Given the description of an element on the screen output the (x, y) to click on. 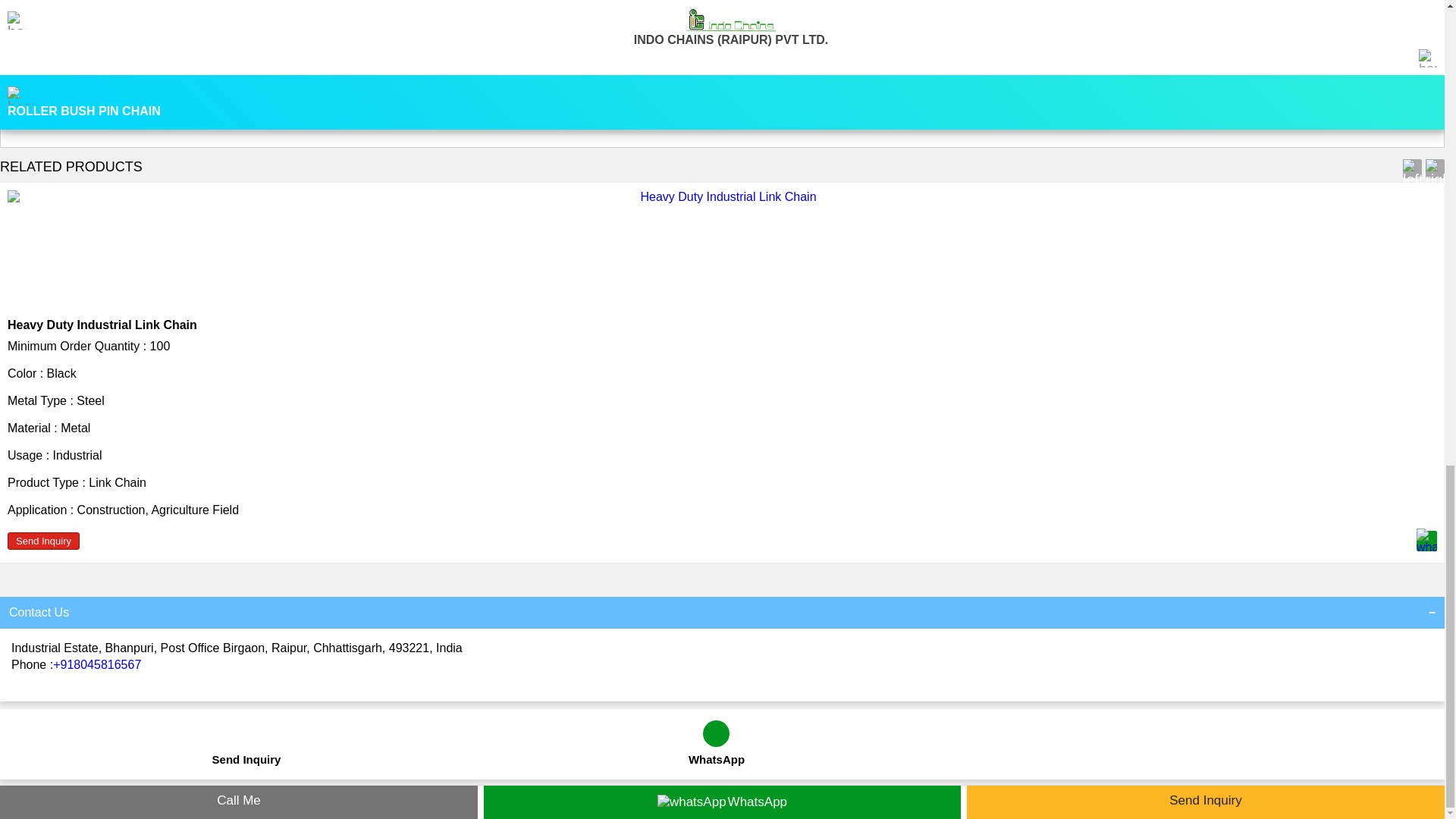
Send Inquiry (43, 540)
Heavy Duty Industrial Link Chain (101, 324)
